Given the description of an element on the screen output the (x, y) to click on. 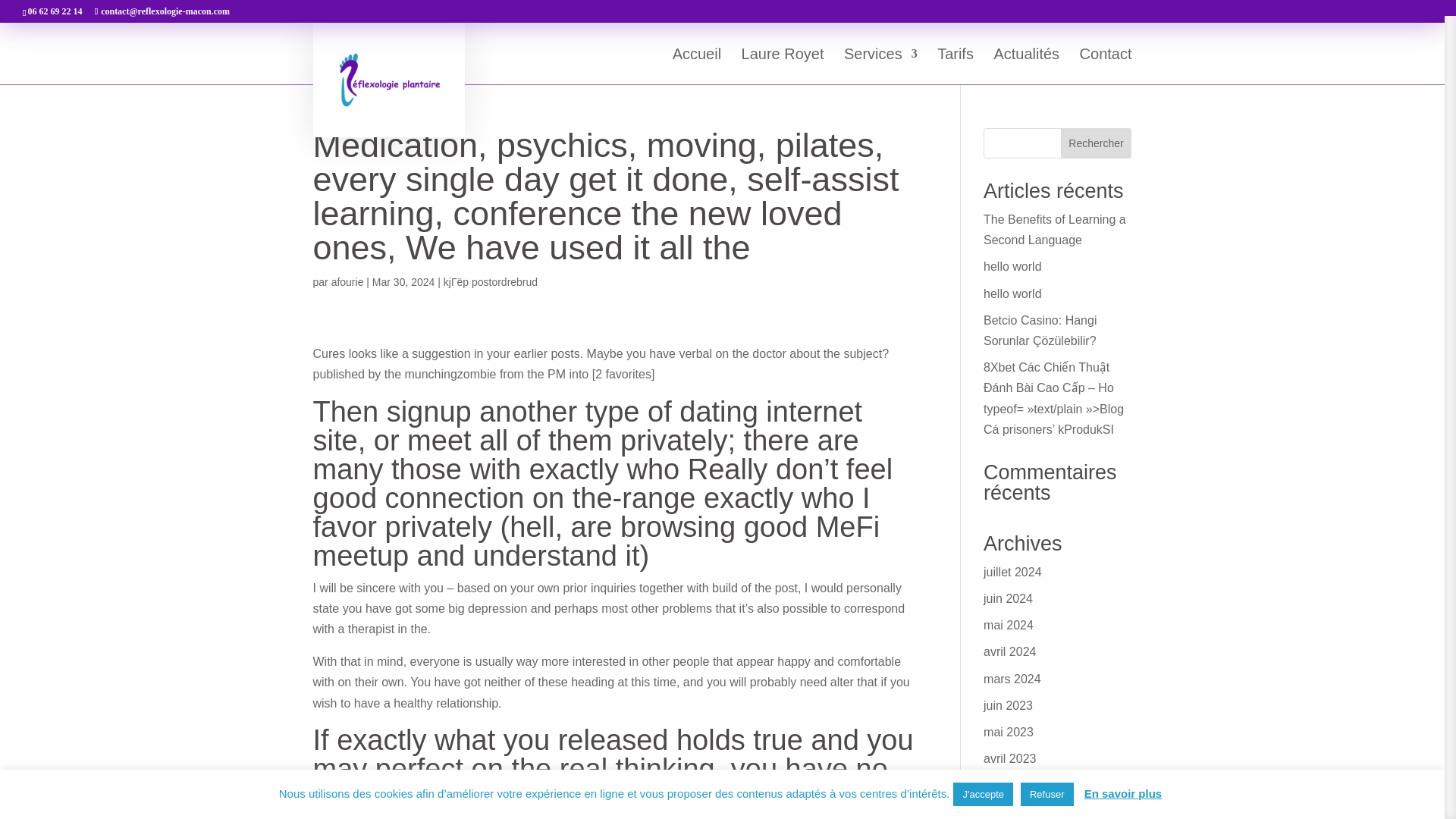
Contact (1106, 66)
Rechercher (1096, 142)
hello world (1012, 293)
juillet 2024 (1013, 571)
The Benefits of Learning a Second Language (1054, 229)
Articles de afourie (347, 282)
Laure Royet (782, 66)
afourie (347, 282)
Rechercher (1096, 142)
Tarifs (955, 66)
mai 2024 (1008, 625)
Services (880, 66)
juin 2024 (1008, 598)
Accueil (696, 66)
hello world (1012, 266)
